Given the description of an element on the screen output the (x, y) to click on. 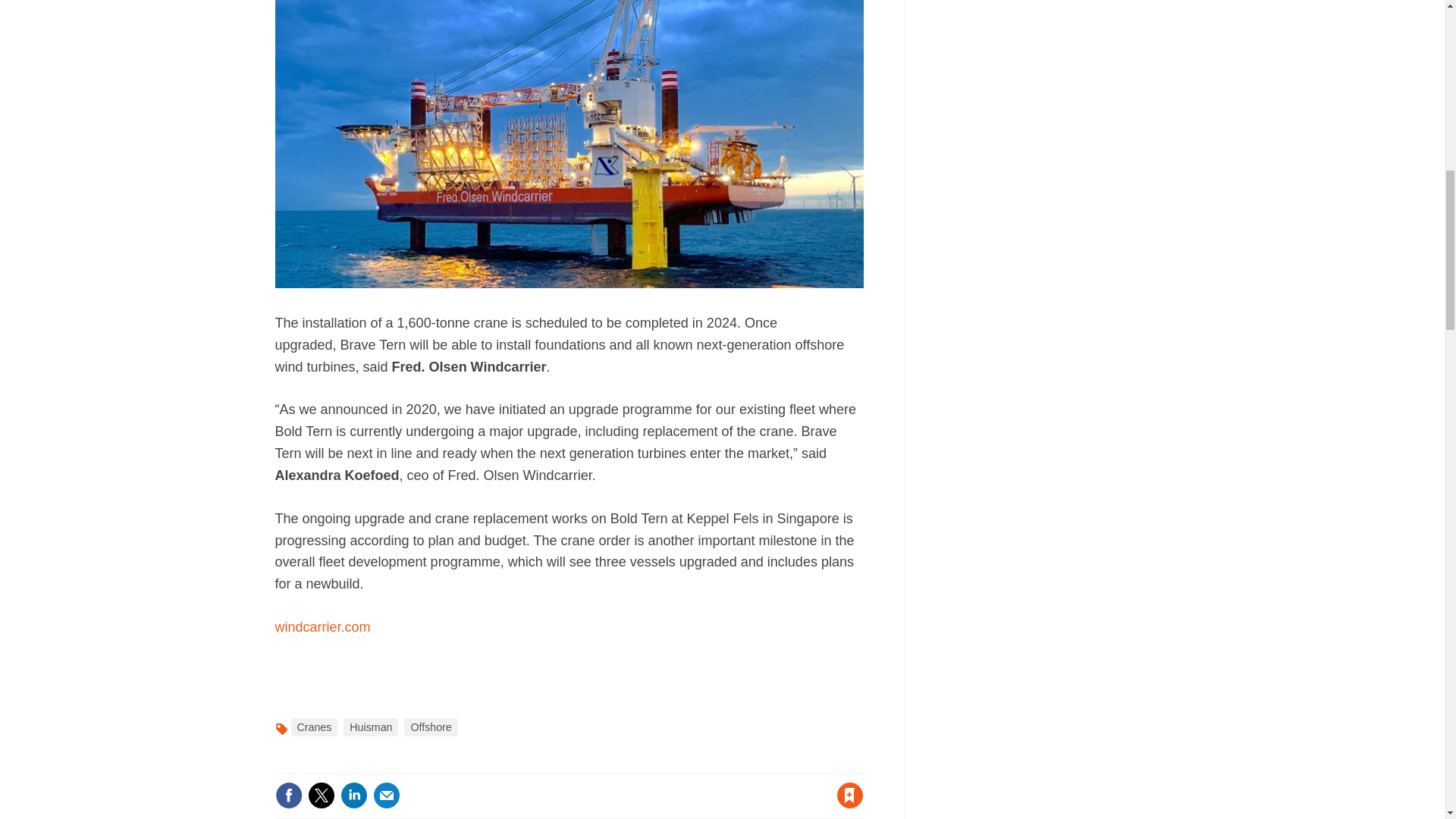
Share this on Linked in (352, 795)
Share this on Twitter (320, 795)
Share this on Facebook (288, 795)
Email this article (386, 795)
